Given the description of an element on the screen output the (x, y) to click on. 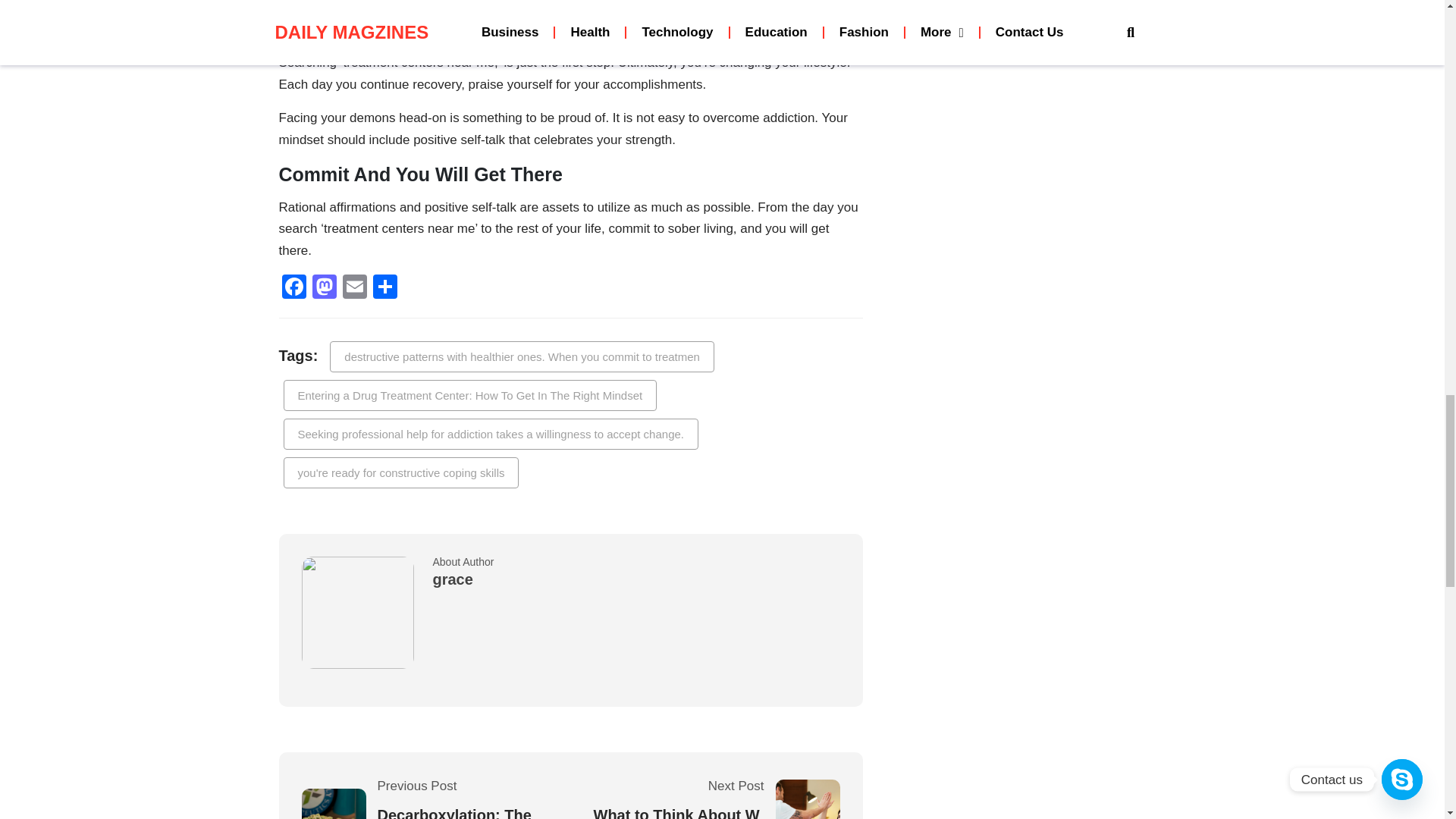
Facebook (293, 288)
Email (354, 288)
Mastodon (323, 288)
